Given the description of an element on the screen output the (x, y) to click on. 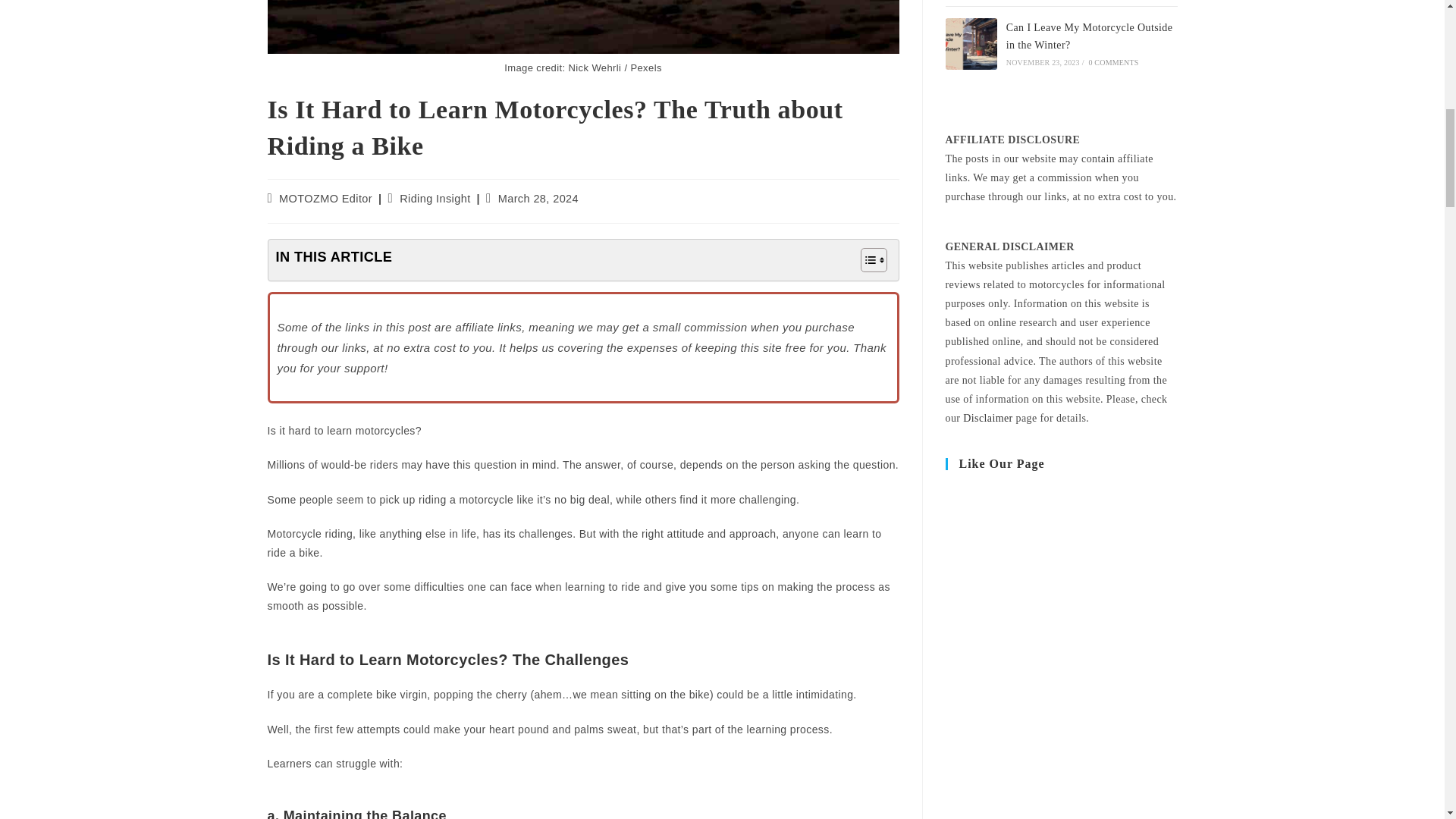
Posts by MOTOZMO Editor (325, 198)
Riding Insight (434, 198)
MOTOZMO Editor (325, 198)
